Given the description of an element on the screen output the (x, y) to click on. 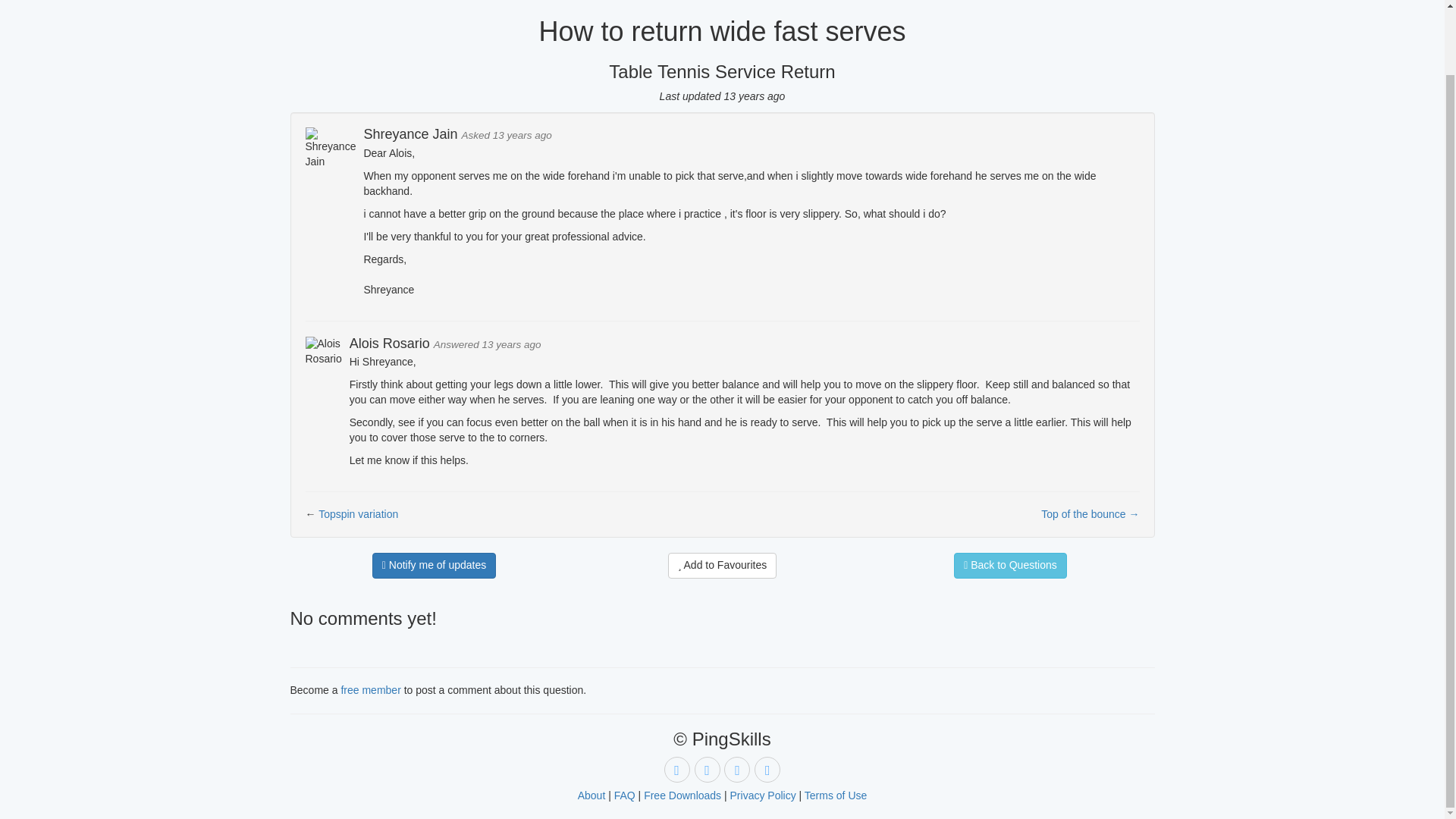
Terms of Use (835, 795)
Follow PingSkills on YouTube (676, 769)
FAQ (624, 795)
Back to Questions (1010, 565)
Topspin variation (357, 513)
free member (370, 689)
Follow PingSkills on Facebook (736, 769)
Contact PingSkills (767, 769)
Notify me of updates (434, 565)
Free Downloads (681, 795)
